Given the description of an element on the screen output the (x, y) to click on. 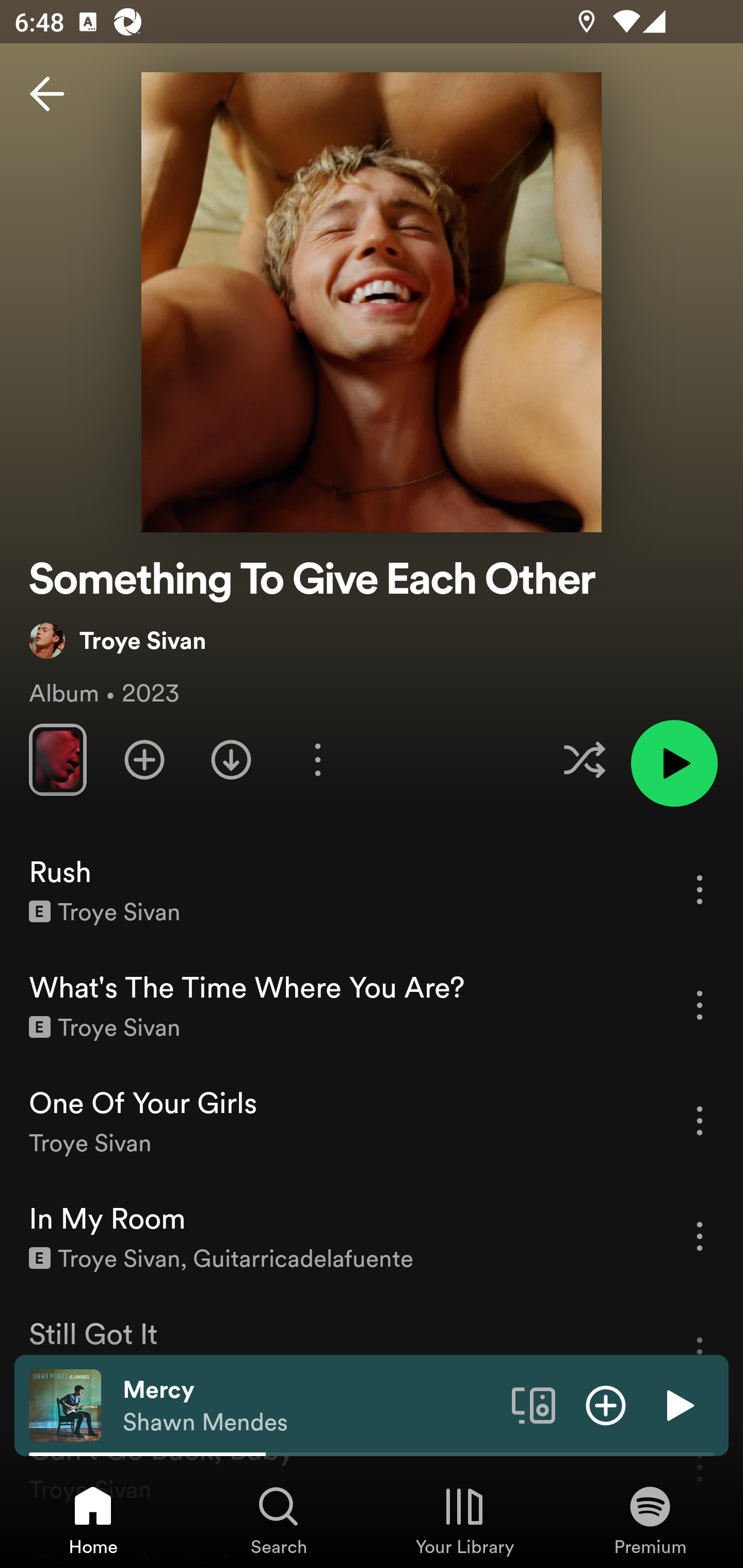
Back (46, 93)
Troye Sivan (117, 640)
Add playlist to Your Library (144, 759)
Download (230, 759)
Enable shuffle for this playlist (583, 759)
Play playlist (674, 763)
More options for song Rush (699, 889)
More options for song One Of Your Girls (699, 1120)
More options for song In My Room (699, 1236)
Mercy Shawn Mendes (309, 1405)
The cover art of the currently playing track (64, 1404)
Connect to a device. Opens the devices menu (533, 1404)
Add item (605, 1404)
Play (677, 1404)
Home, Tab 1 of 4 Home Home (92, 1519)
Search, Tab 2 of 4 Search Search (278, 1519)
Your Library, Tab 3 of 4 Your Library Your Library (464, 1519)
Premium, Tab 4 of 4 Premium Premium (650, 1519)
